Given the description of an element on the screen output the (x, y) to click on. 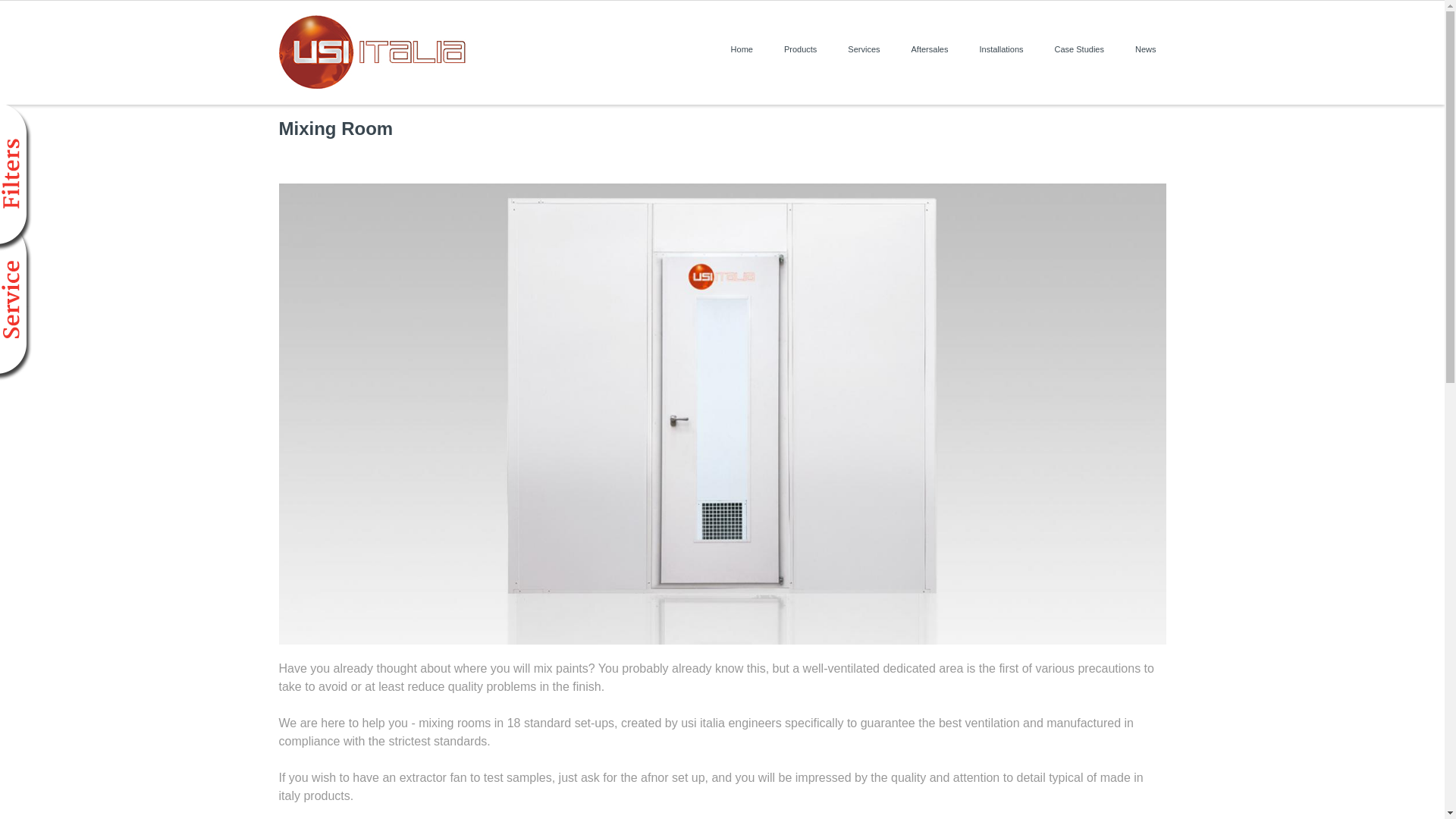
Case Studies (1079, 49)
Home (741, 49)
Aftersales (929, 49)
Products (800, 49)
Installations (1000, 49)
News (1145, 49)
Services (863, 49)
